Given the description of an element on the screen output the (x, y) to click on. 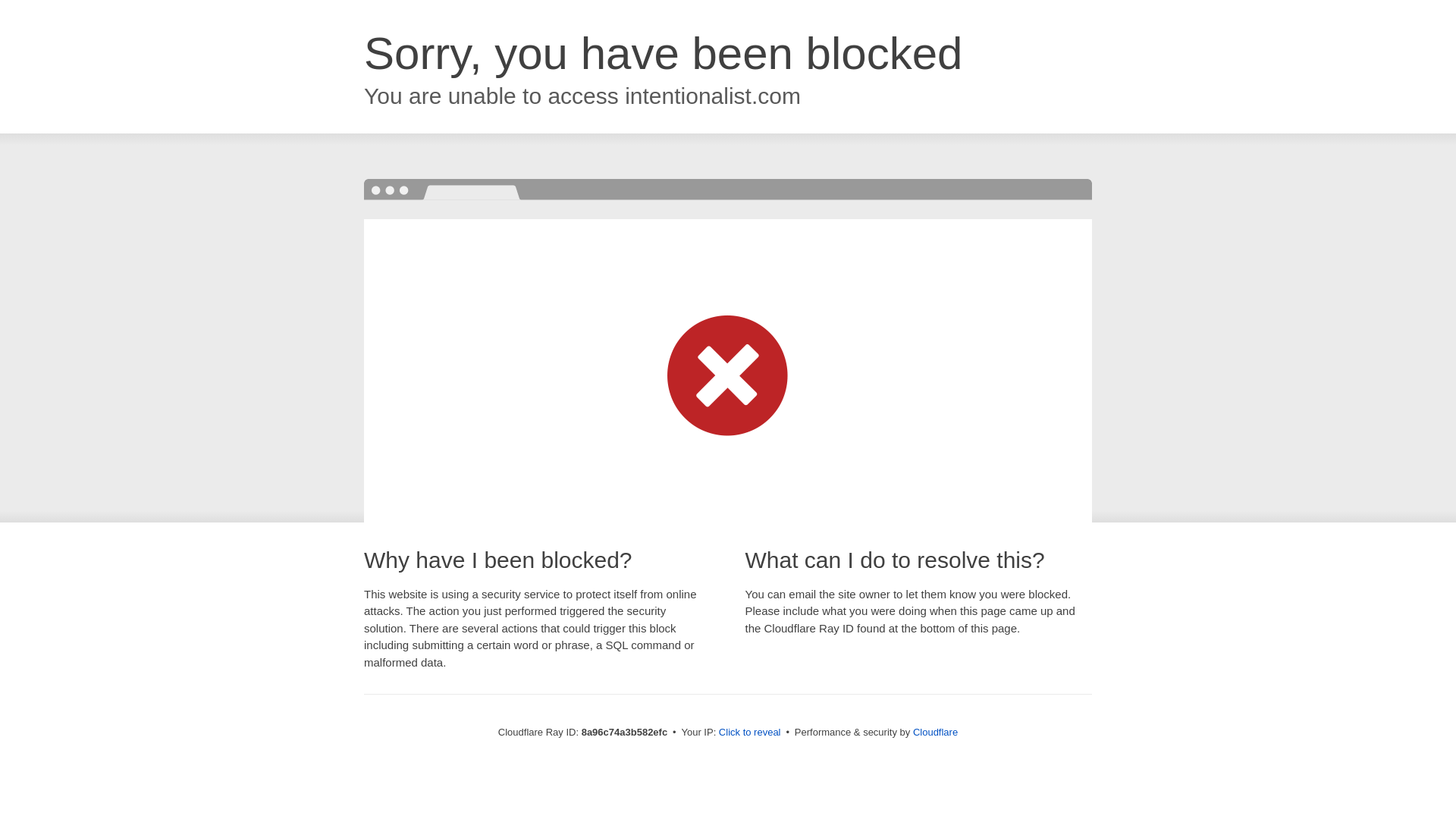
Click to reveal (749, 732)
Cloudflare (935, 731)
